Given the description of an element on the screen output the (x, y) to click on. 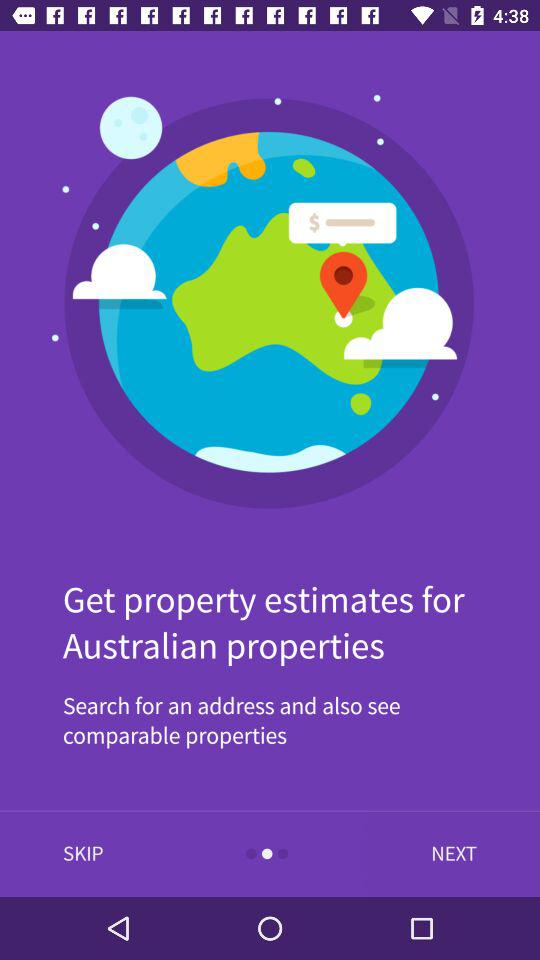
swipe until the skip icon (83, 853)
